Given the description of an element on the screen output the (x, y) to click on. 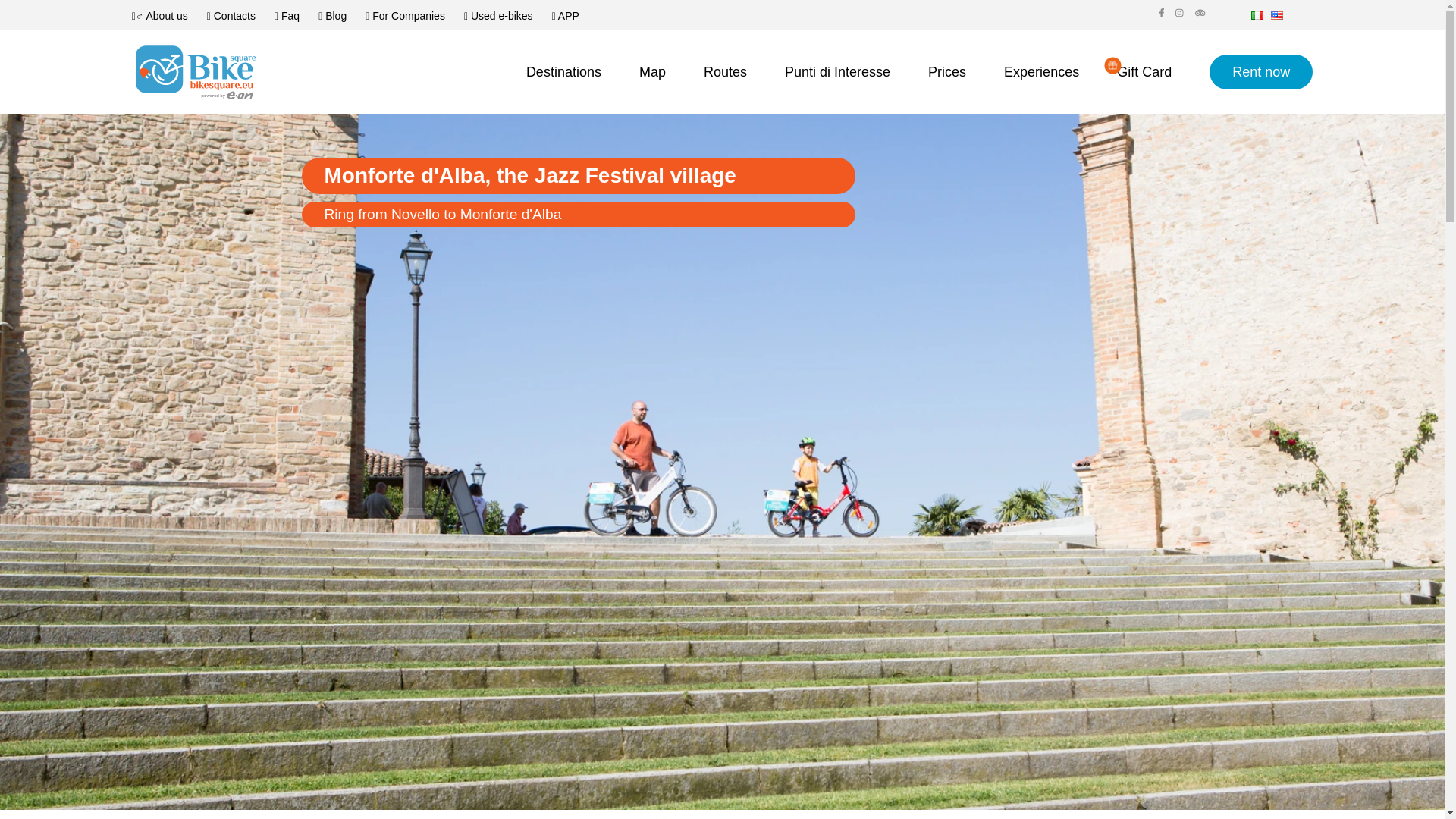
Gift Card (1144, 72)
esperienze tutto compreso (1041, 72)
Prices (947, 72)
Map (652, 72)
Punti di Interesse (836, 72)
Destinations (563, 72)
Rent now (1261, 71)
Experiences (1041, 72)
Routes (724, 72)
